Given the description of an element on the screen output the (x, y) to click on. 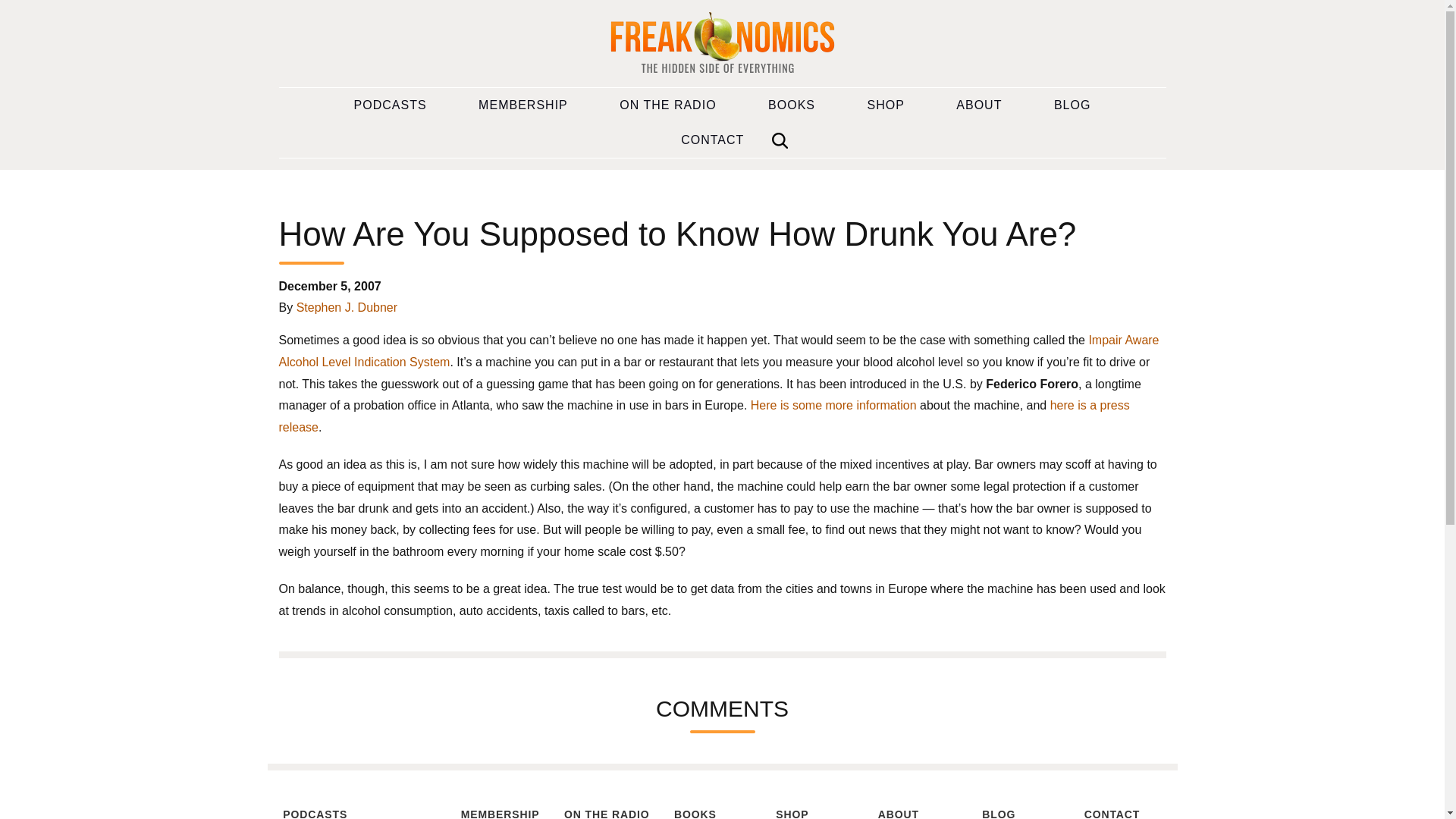
here is a press release (704, 416)
PODCASTS (390, 104)
ON THE RADIO (606, 811)
BOOKS (792, 104)
Impair Aware Alcohol Level Indication System (718, 350)
BOOKS (712, 811)
BLOG (1072, 104)
SHOP (885, 104)
MEMBERSHIP (500, 811)
ON THE RADIO (667, 104)
Here is some more information (834, 404)
ABOUT (978, 104)
Return to homepage (722, 43)
SHOP (814, 811)
MEMBERSHIP (523, 104)
